Given the description of an element on the screen output the (x, y) to click on. 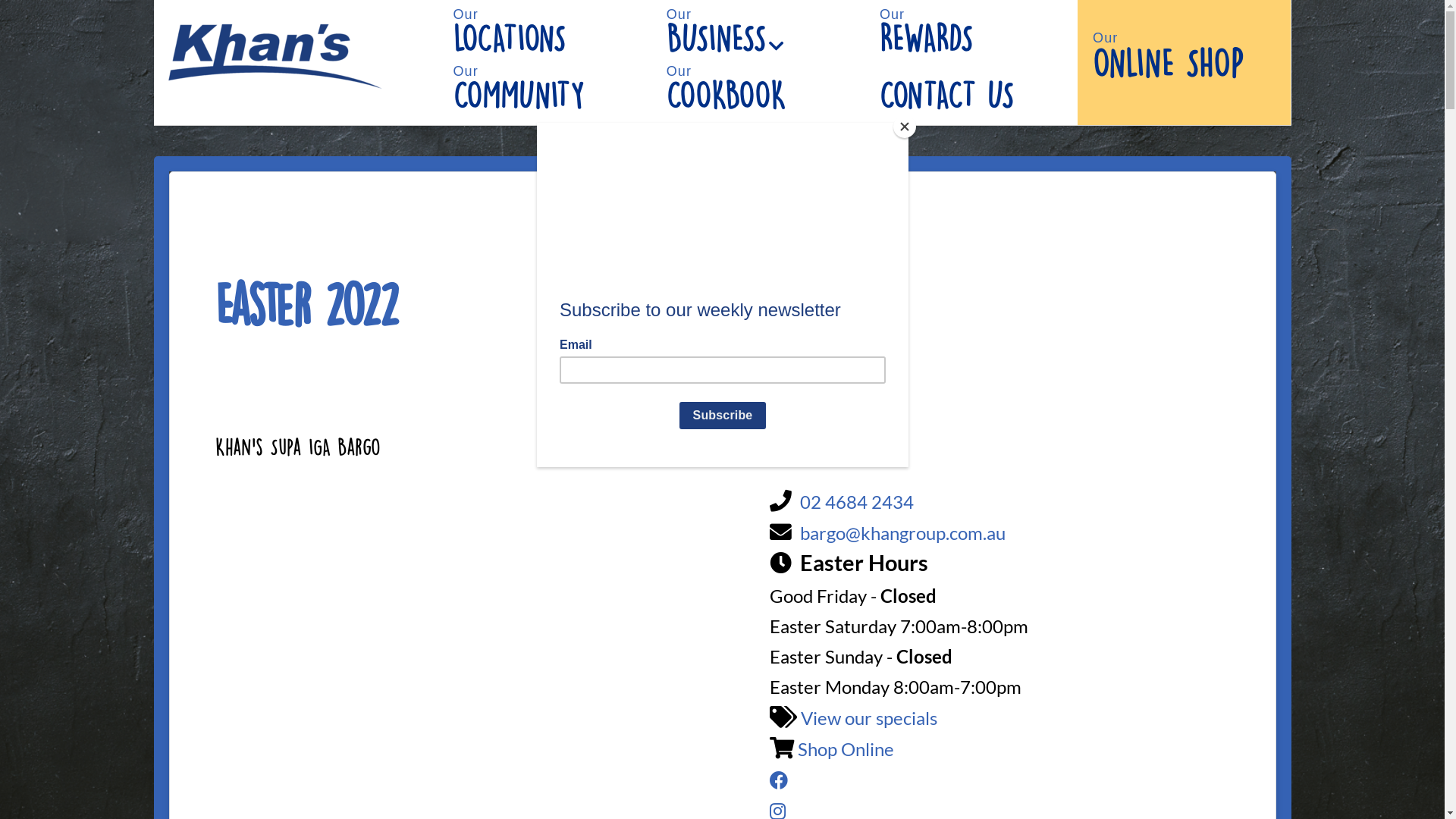
02 4684 2434 Element type: text (856, 501)
LOCATIONS Element type: text (544, 56)
COMMUNITY Element type: text (544, 113)
REWARDS Element type: text (970, 56)
COOKBOOK Element type: text (757, 113)
ONLINE SHOP Element type: text (1183, 79)
View our specials Element type: text (868, 717)
Shop Online Element type: text (845, 748)
BUSINESS Element type: text (757, 56)
bargo@khangroup.com.au Element type: text (902, 532)
CONTACT US Element type: text (970, 127)
